Given the description of an element on the screen output the (x, y) to click on. 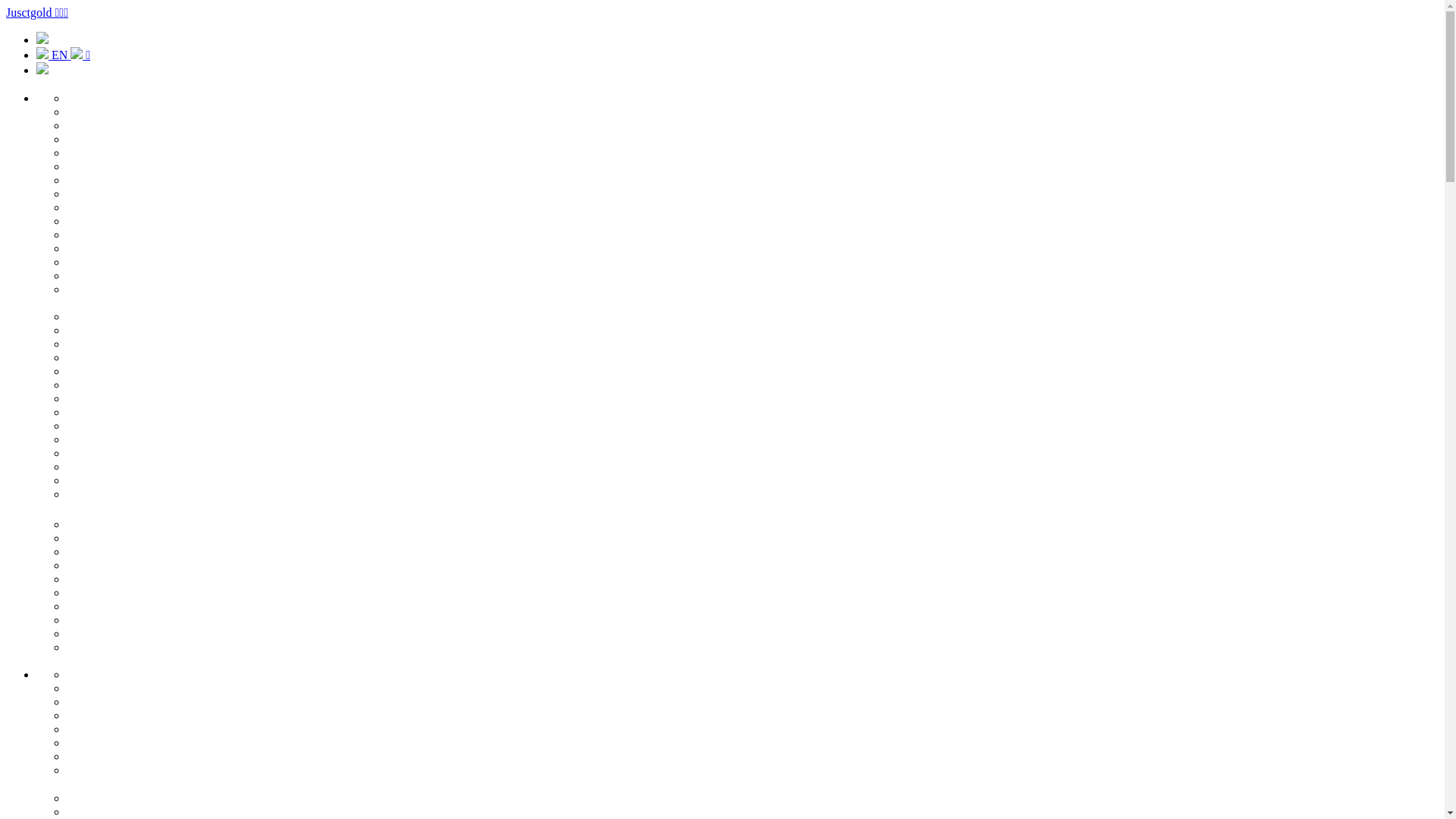
EN Element type: text (53, 54)
